Given the description of an element on the screen output the (x, y) to click on. 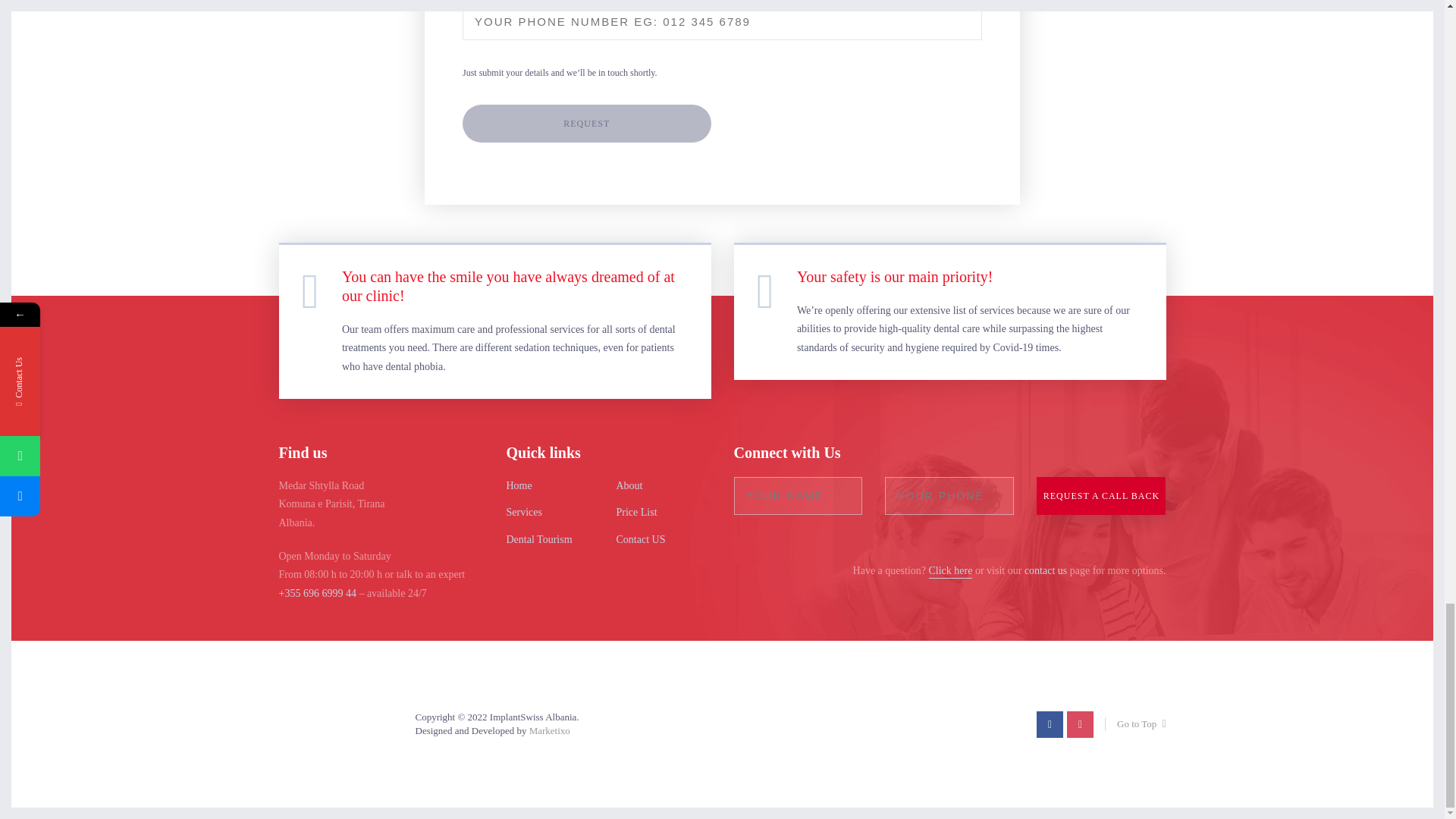
Request a call back (1101, 495)
Request (587, 123)
